Given the description of an element on the screen output the (x, y) to click on. 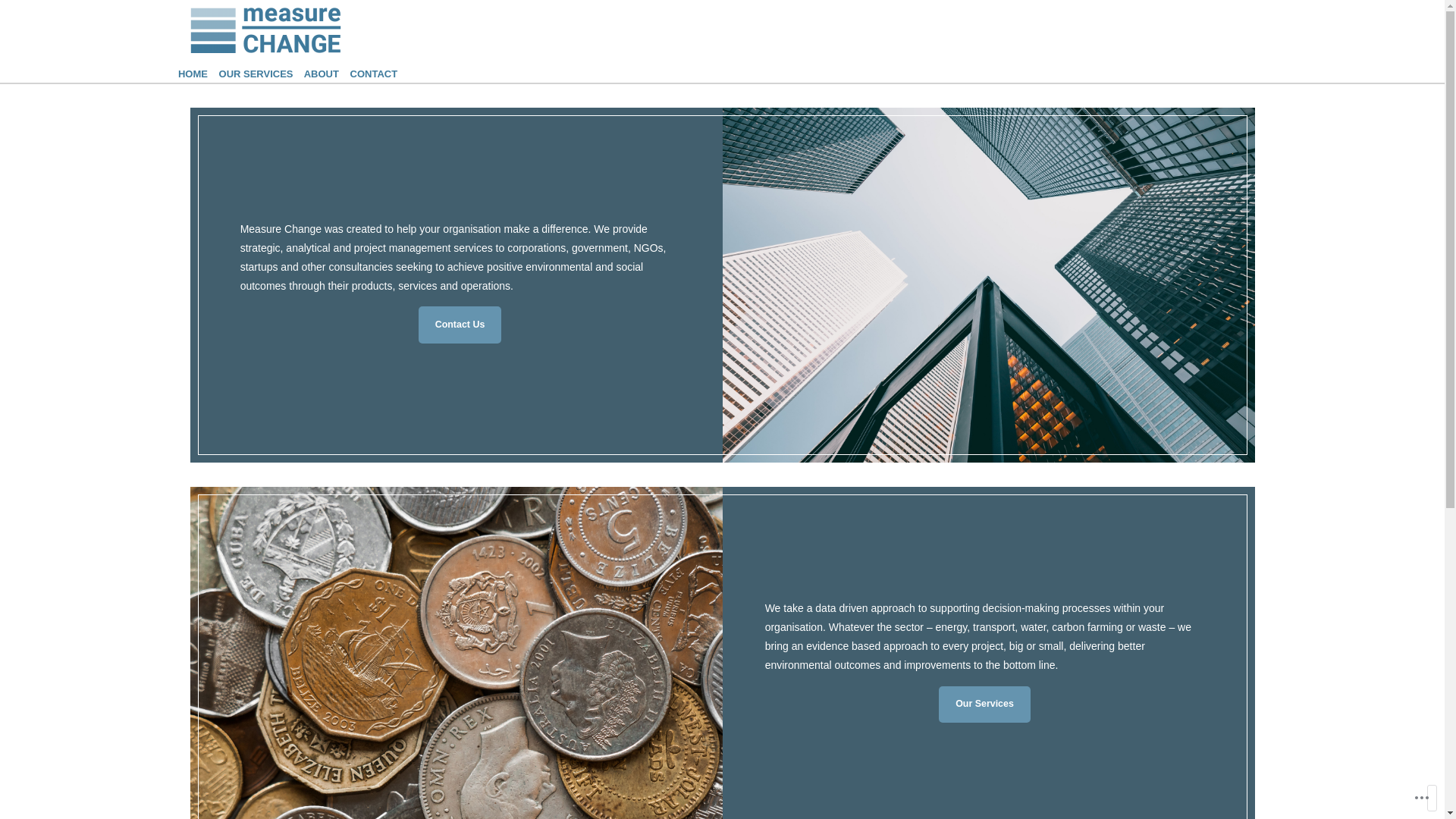
Measure Change Pty Ltd Element type: text (285, 18)
OUR SERVICES Element type: text (256, 73)
HOME Element type: text (192, 73)
Contact Us Element type: text (460, 324)
ABOUT Element type: text (321, 73)
Our Services Element type: text (984, 704)
CONTACT Element type: text (374, 73)
